Given the description of an element on the screen output the (x, y) to click on. 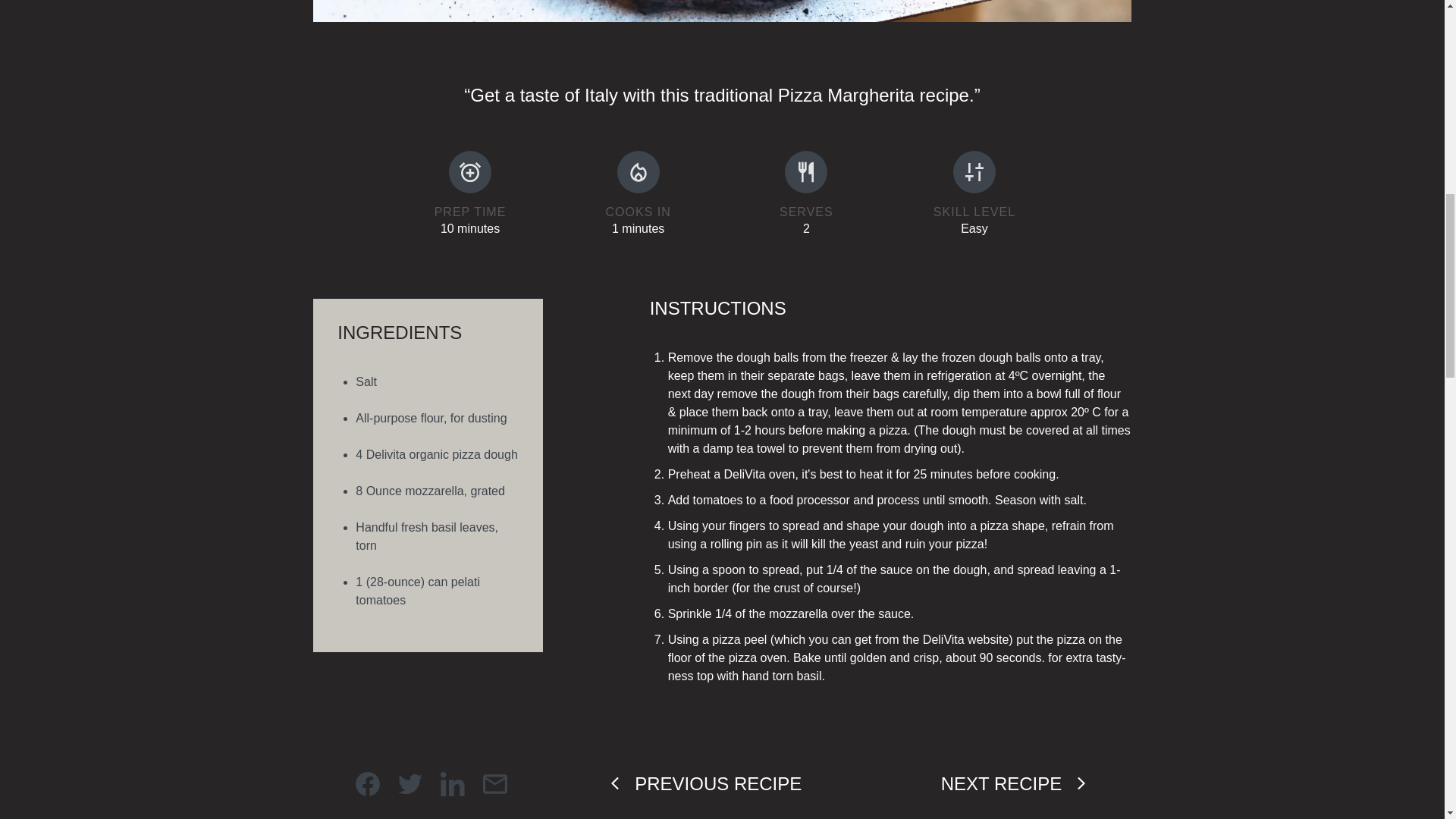
PREVIOUS RECIPE (704, 783)
